Given the description of an element on the screen output the (x, y) to click on. 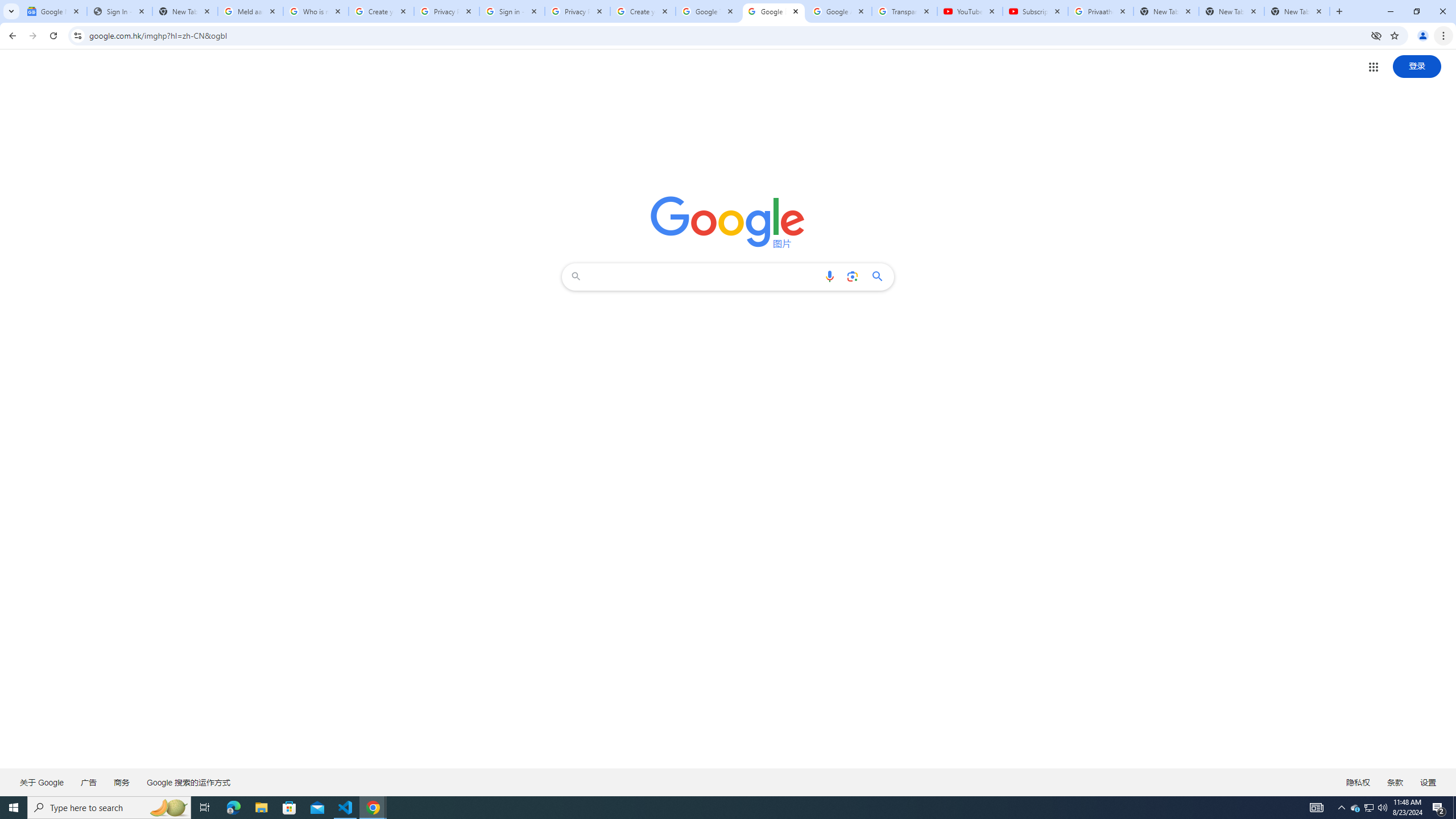
Who is my administrator? - Google Account Help (315, 11)
YouTube (969, 11)
